Given the description of an element on the screen output the (x, y) to click on. 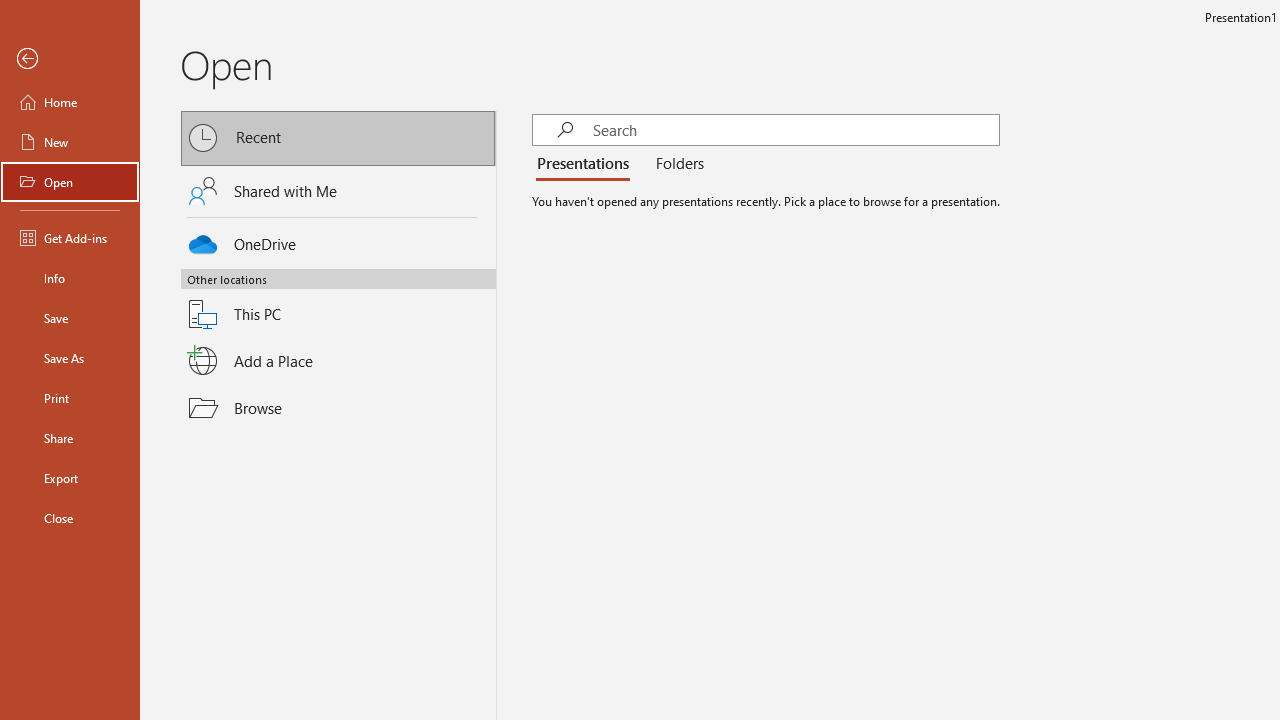
Save As (69, 357)
New (69, 141)
Get Add-ins (69, 237)
Back (69, 59)
Shared with Me (338, 191)
